Given the description of an element on the screen output the (x, y) to click on. 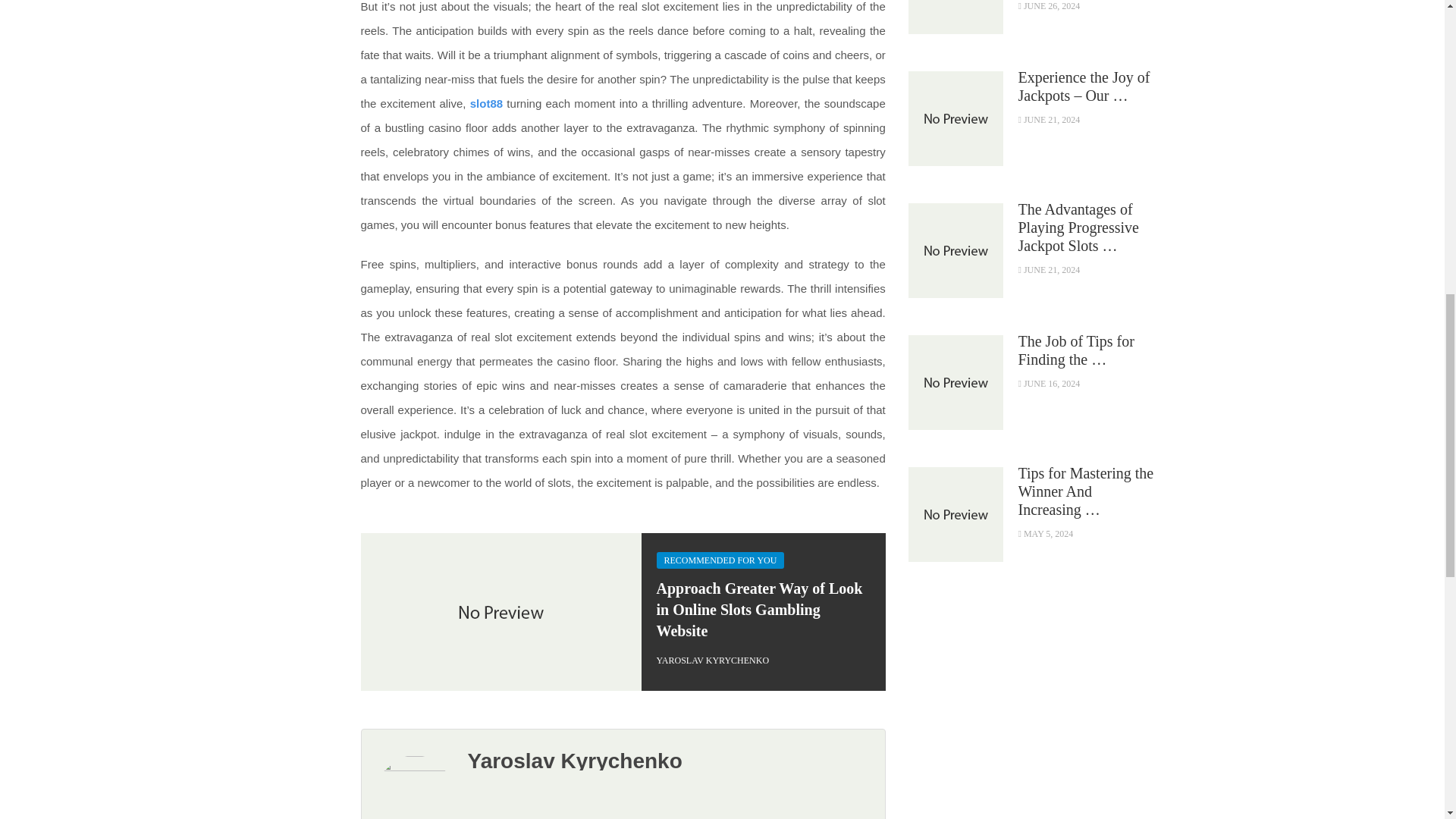
slot88 (486, 103)
YAROSLAV KYRYCHENKO (713, 660)
Yaroslav Kyrychenko (574, 761)
Posts by Yaroslav Kyrychenko (713, 660)
